Given the description of an element on the screen output the (x, y) to click on. 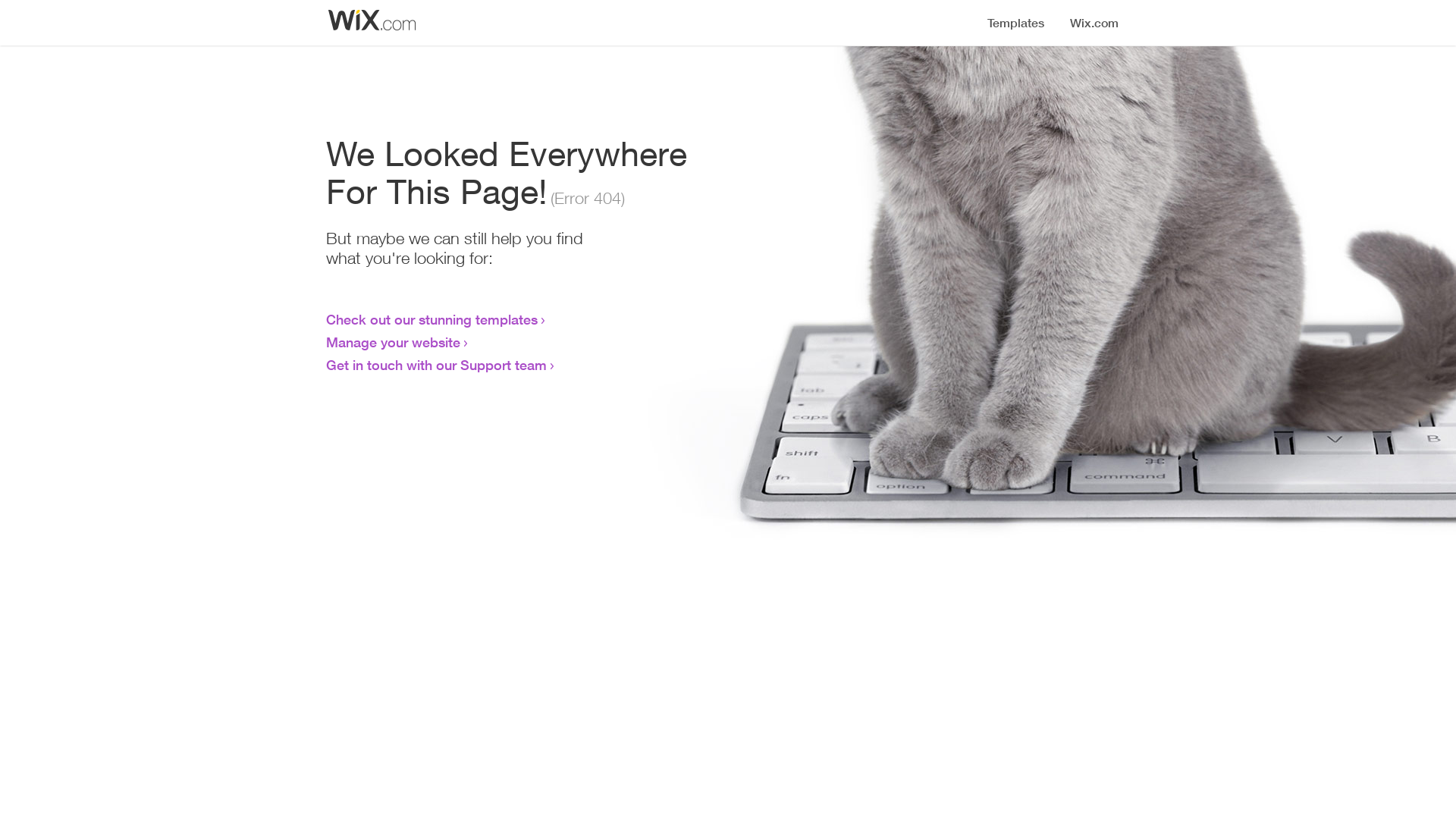
Manage your website Element type: text (393, 341)
Get in touch with our Support team Element type: text (436, 364)
Check out our stunning templates Element type: text (431, 318)
